Given the description of an element on the screen output the (x, y) to click on. 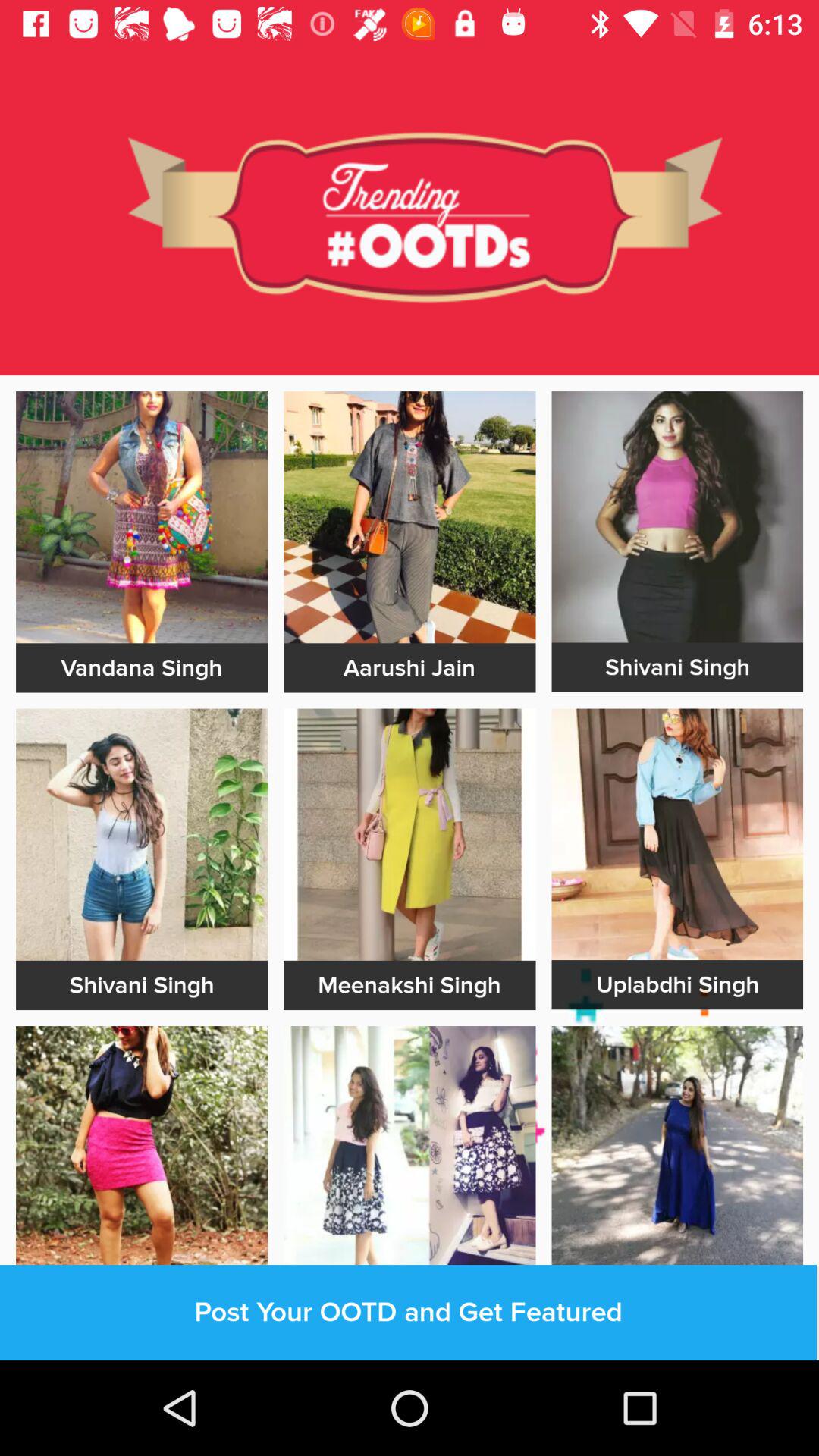
advertisement image (677, 834)
